Given the description of an element on the screen output the (x, y) to click on. 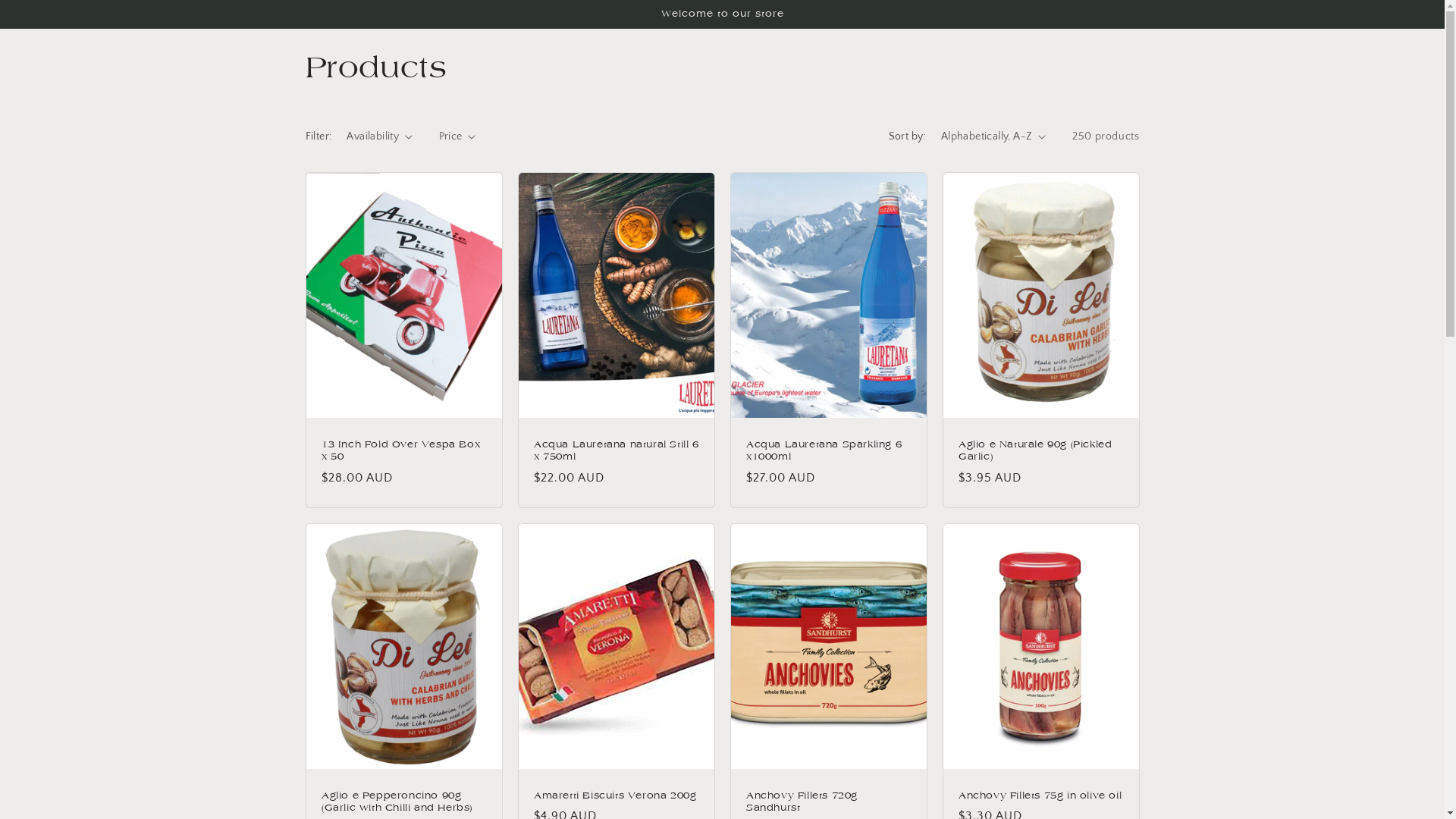
Amaretti Biscuits Verona 200g Element type: text (616, 795)
13 Inch Fold Over Vespa Box x 50 Element type: text (403, 450)
Anchovy Fillets 75g in olive oil Element type: text (1040, 795)
Acqua Lauretana Sparkling 6 x1000ml Element type: text (828, 450)
Acqua Lauretana natural Still 6 x 750ml Element type: text (616, 450)
Aglio e Pepperoncino 90g (Garlic with Chilli and Herbs) Element type: text (403, 802)
Aglio e Naturale 90g (Pickled Garlic) Element type: text (1040, 450)
Anchovy Fillets 720g Sandhurst Element type: text (828, 802)
